Given the description of an element on the screen output the (x, y) to click on. 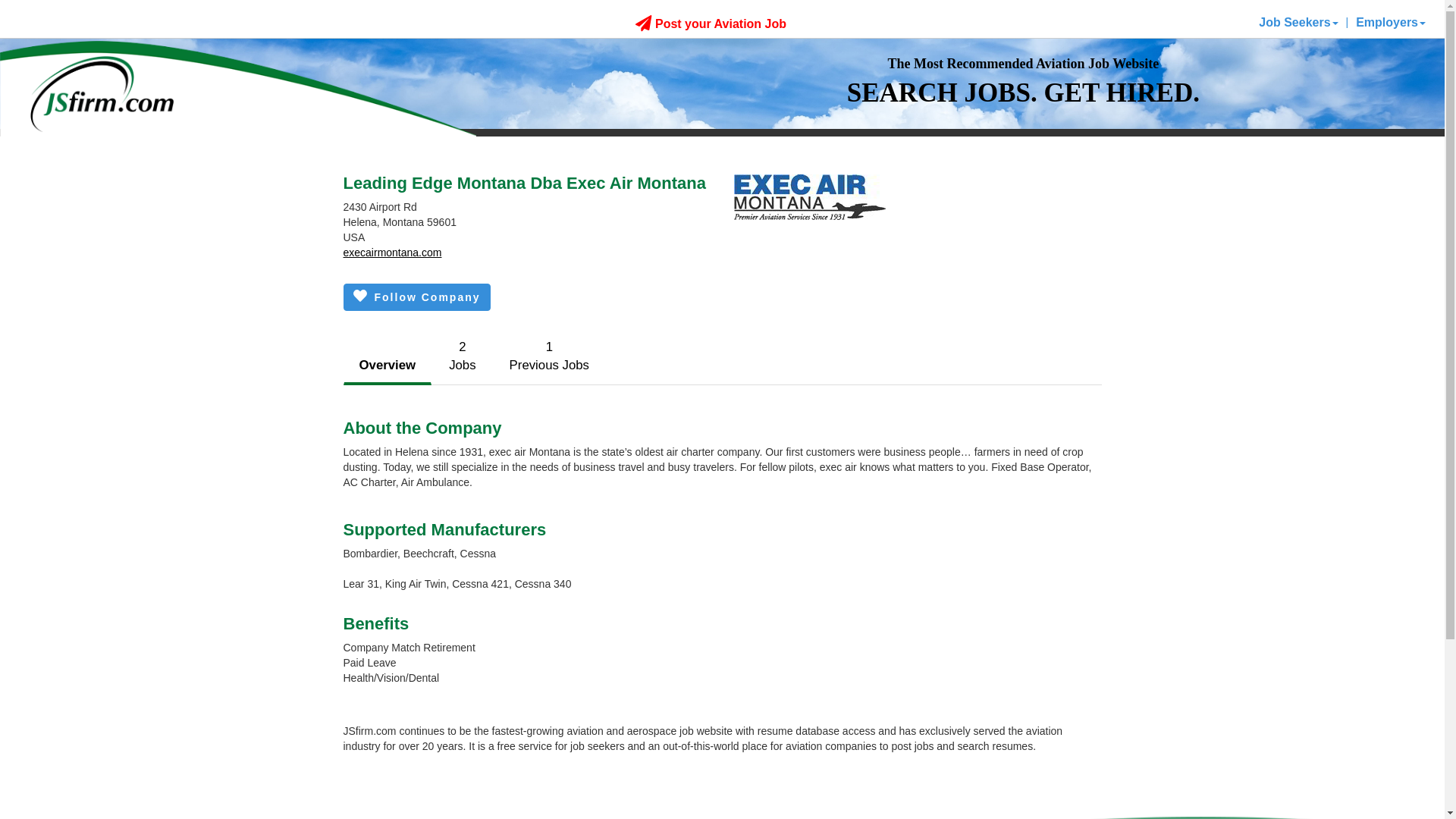
Overview (386, 366)
Employers (1390, 22)
execairmontana.com (391, 252)
Job Seekers (1297, 22)
Follow Company (415, 297)
Post your Aviation Job (549, 356)
Leading Edge Montana Dba Exec Air Montana (710, 23)
